Given the description of an element on the screen output the (x, y) to click on. 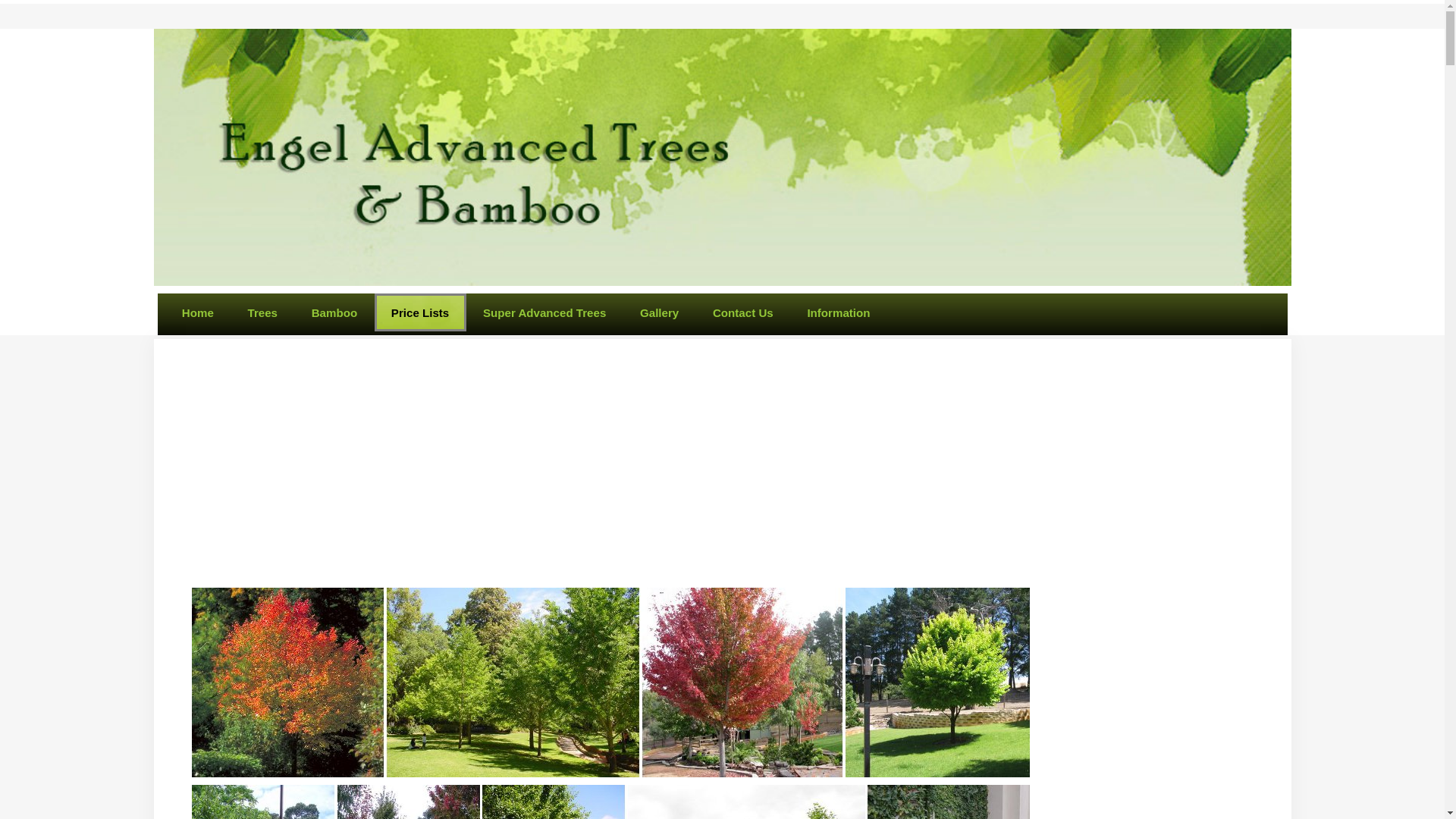
Gallery Element type: text (659, 312)
Contact Us Element type: text (742, 312)
Price Lists Element type: text (419, 312)
Bamboo Element type: text (334, 312)
Home Element type: text (197, 312)
Super Advanced Trees Element type: text (544, 312)
Trees Element type: text (262, 312)
Information Element type: text (837, 312)
Gallery Element type: text (659, 312)
Trees Element type: text (262, 312)
Super Advanced Trees Element type: text (544, 312)
Contact Us Element type: text (742, 312)
Information Element type: text (837, 312)
Price Lists Element type: text (419, 312)
Home Element type: text (197, 312)
Bamboo Element type: text (334, 312)
